Given the description of an element on the screen output the (x, y) to click on. 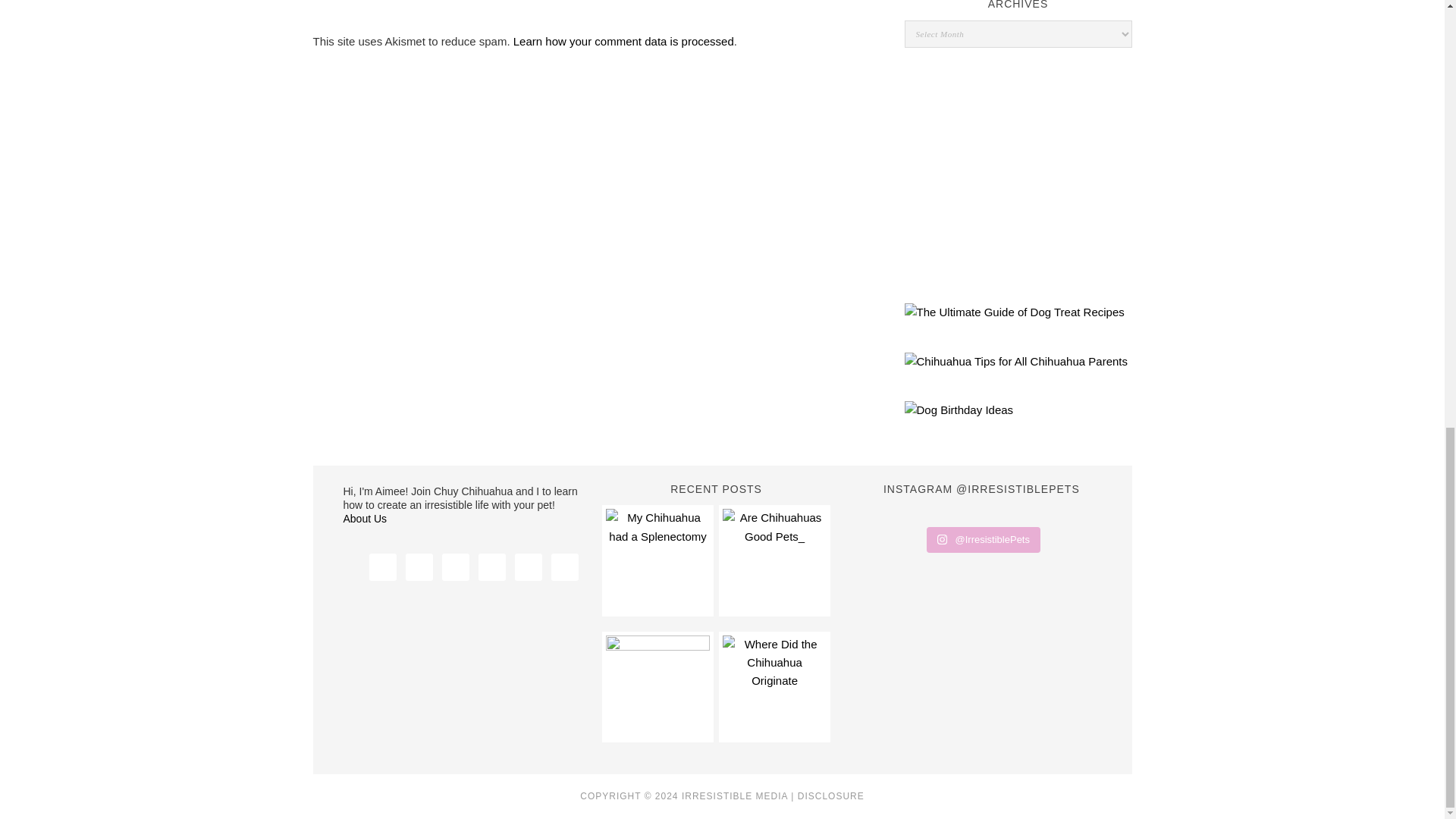
Are Chihuahuas Good Pets? (773, 559)
Learn how your comment data is processed (623, 41)
Where Did the Chihuahua Originate? (773, 686)
About Us (364, 518)
My Chihuahua Had a Splenectomy (657, 559)
